Given the description of an element on the screen output the (x, y) to click on. 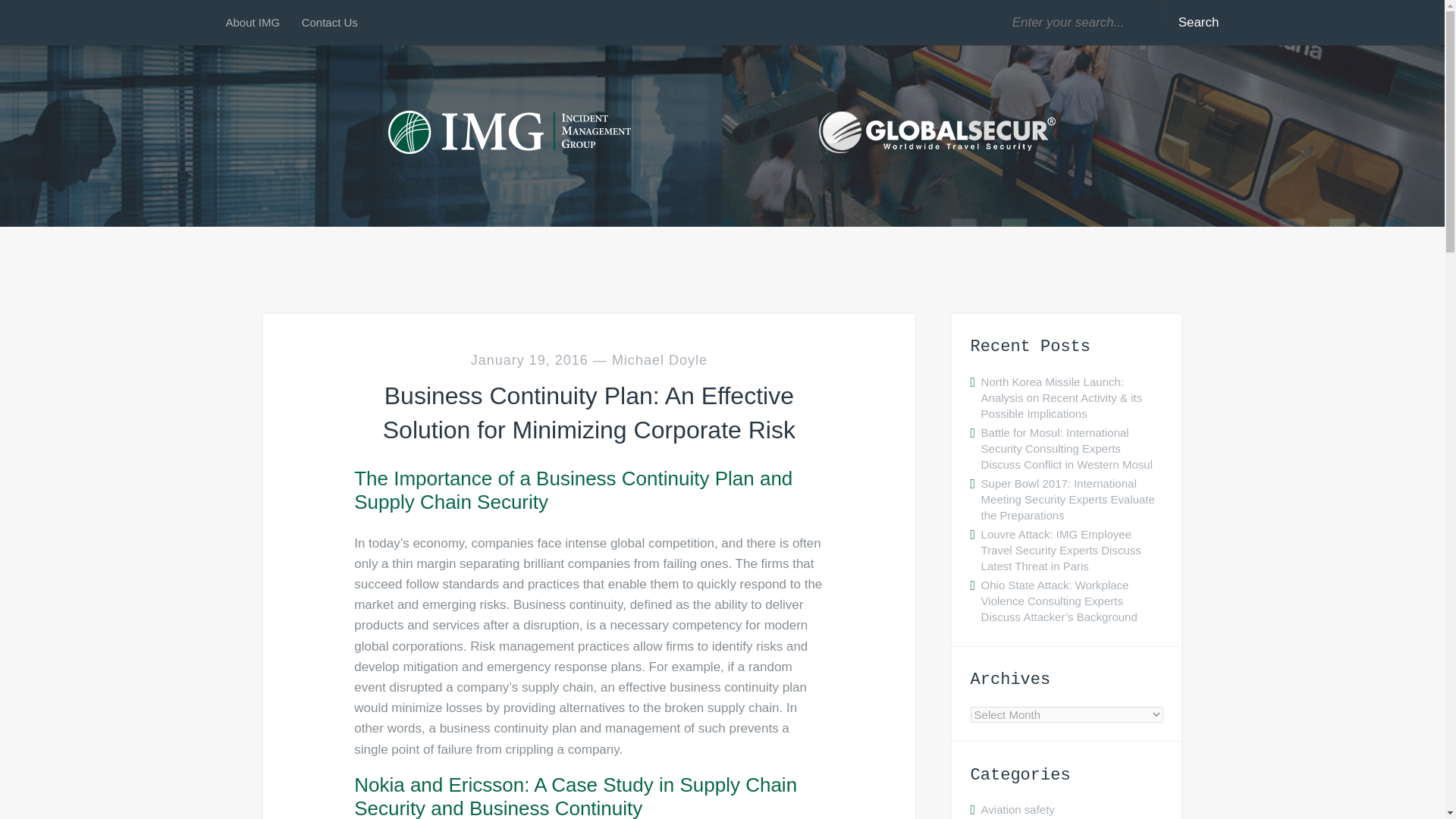
Michael Doyle (659, 359)
Posts by Michael Doyle (659, 359)
Aviation safety (1017, 809)
Search (1196, 22)
Contact Us (329, 22)
Contact Us (329, 22)
About IMG GlobalSecur (257, 22)
